Given the description of an element on the screen output the (x, y) to click on. 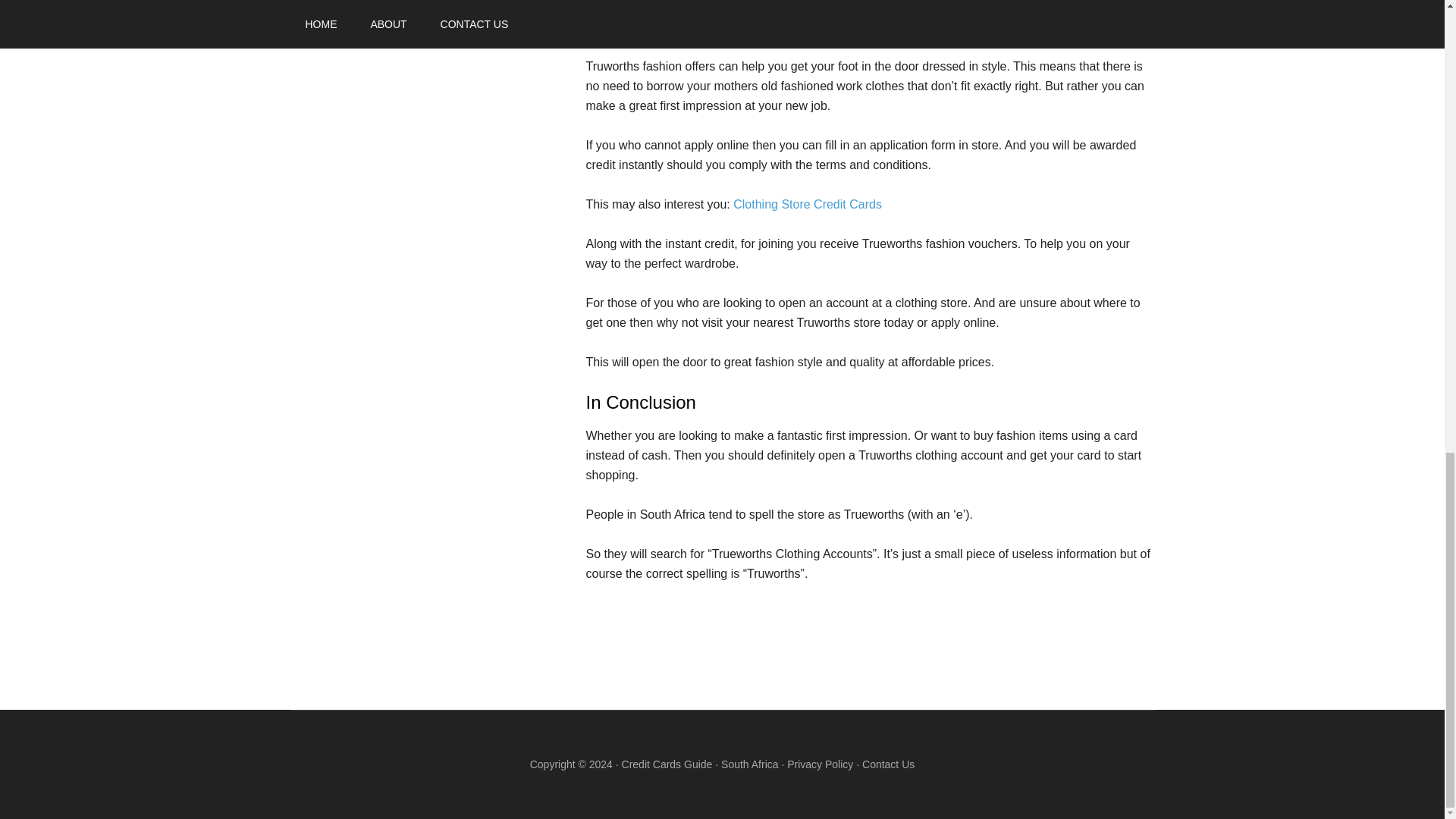
Clothing Store Credit Cards (807, 204)
Privacy Policy (820, 764)
Contact Us (887, 764)
